Given the description of an element on the screen output the (x, y) to click on. 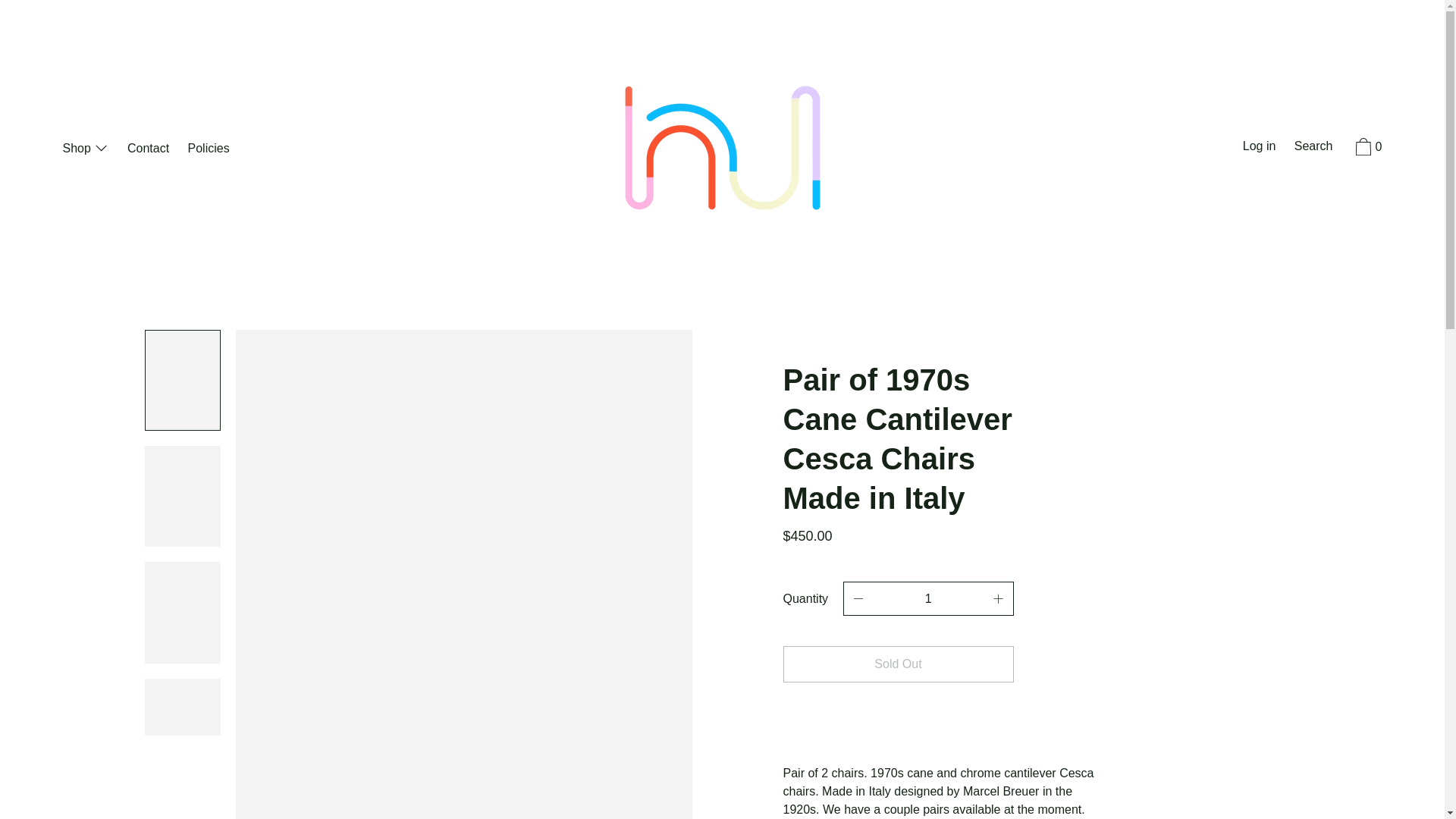
Policies (208, 149)
0 (1366, 148)
Search (1313, 147)
Log in (1259, 147)
Contact (147, 149)
1 (927, 598)
Shop (85, 149)
